Given the description of an element on the screen output the (x, y) to click on. 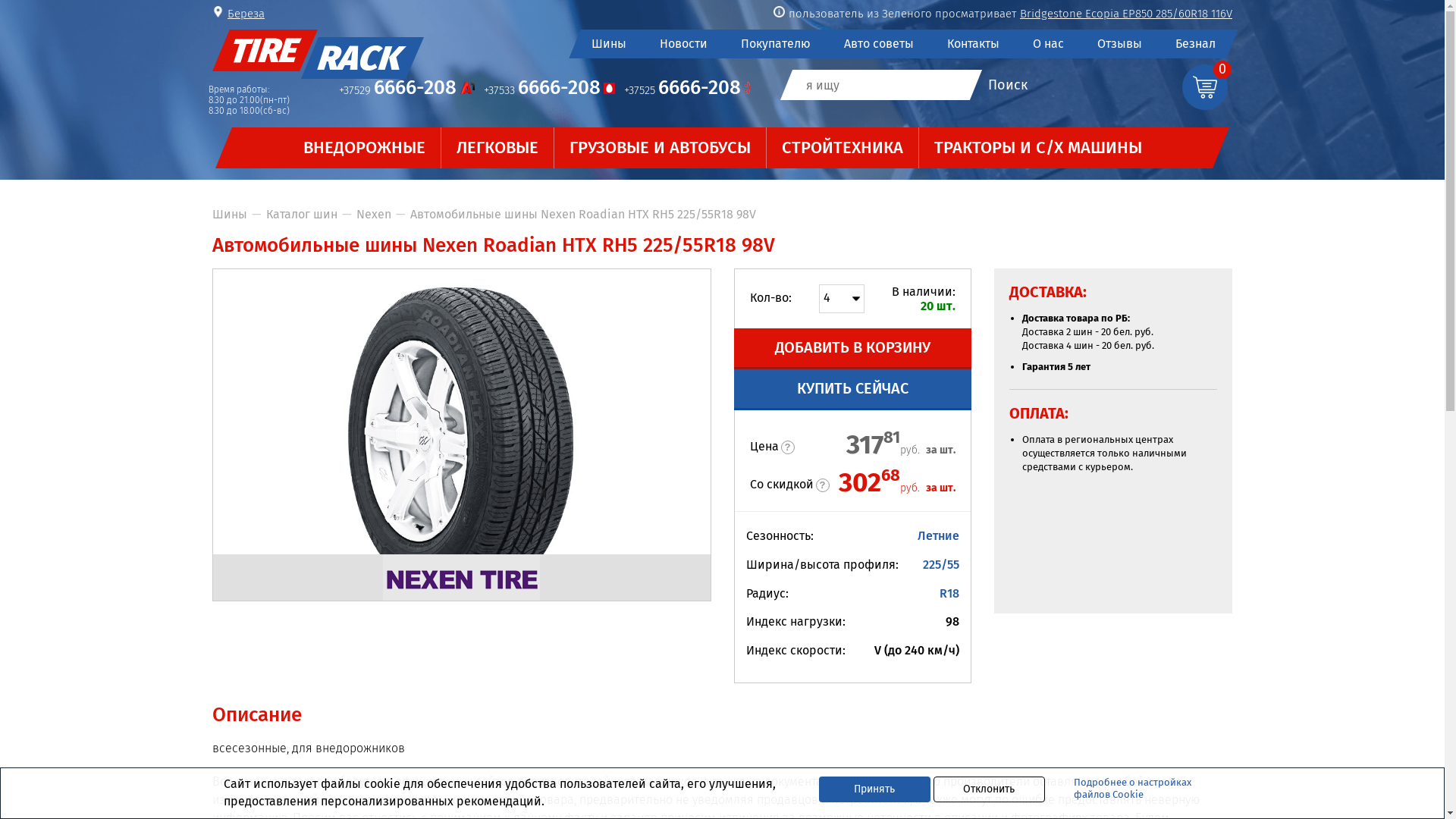
Nexen Element type: text (373, 214)
+37525 6666-208 Element type: text (686, 89)
+37529 6666-208 Element type: text (406, 89)
225/55 Element type: text (940, 564)
Bridgestone Ecopia EP850 285/60R18 116V Element type: text (1125, 13)
+37533 6666-208 Element type: text (549, 89)
Nexen Element type: hover (460, 577)
R18 Element type: text (949, 593)
